Given the description of an element on the screen output the (x, y) to click on. 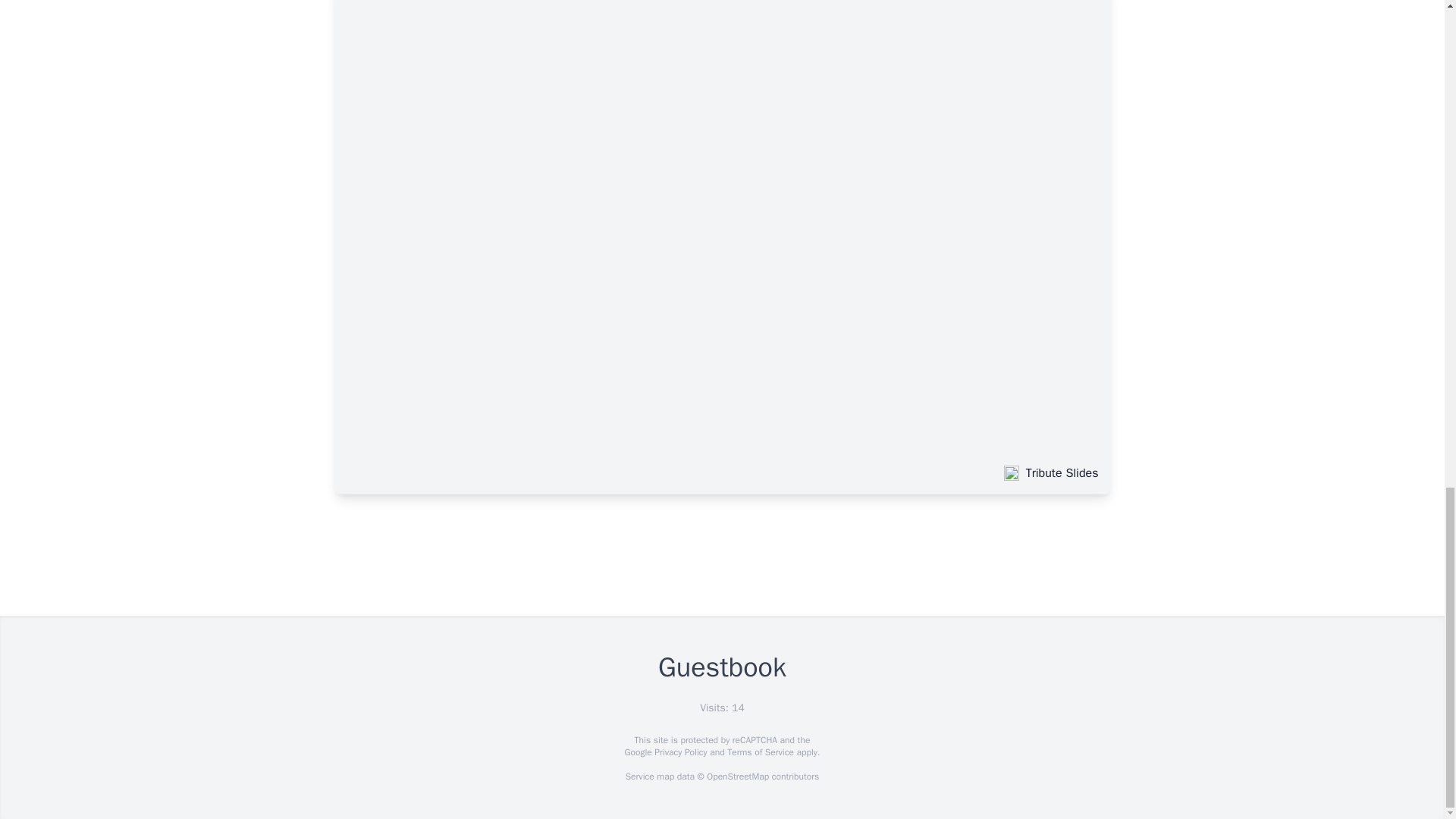
Terms of Service (759, 752)
OpenStreetMap (737, 776)
Privacy Policy (679, 752)
